Given the description of an element on the screen output the (x, y) to click on. 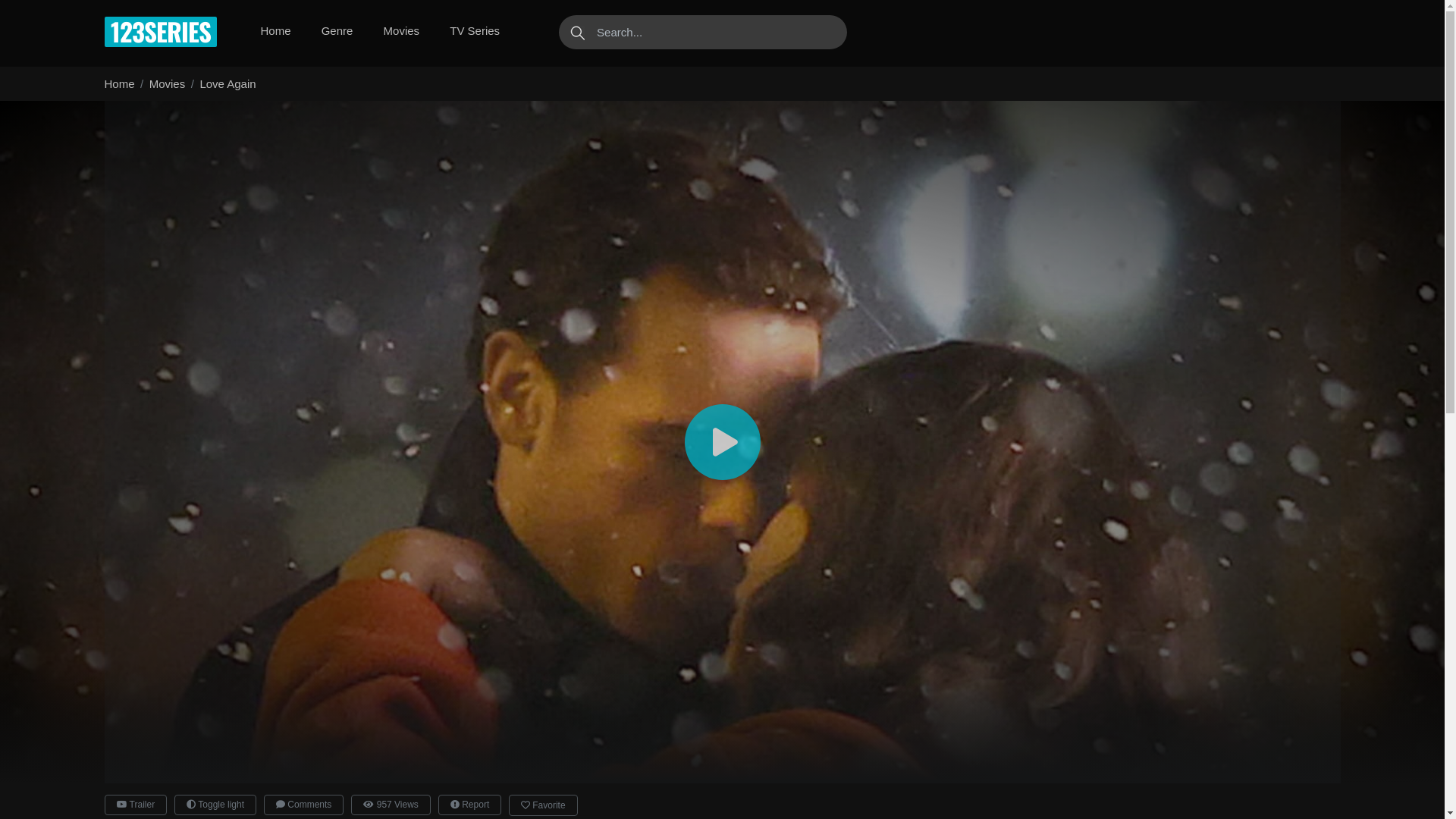
submit Element type: text (575, 32)
Home Element type: text (119, 83)
Movies Element type: text (401, 31)
Love Again Element type: text (227, 83)
Home Element type: text (275, 31)
Movies Element type: text (167, 83)
Genre Element type: text (337, 31)
123SERIES Element type: text (160, 31)
TV Series Element type: text (474, 31)
